Given the description of an element on the screen output the (x, y) to click on. 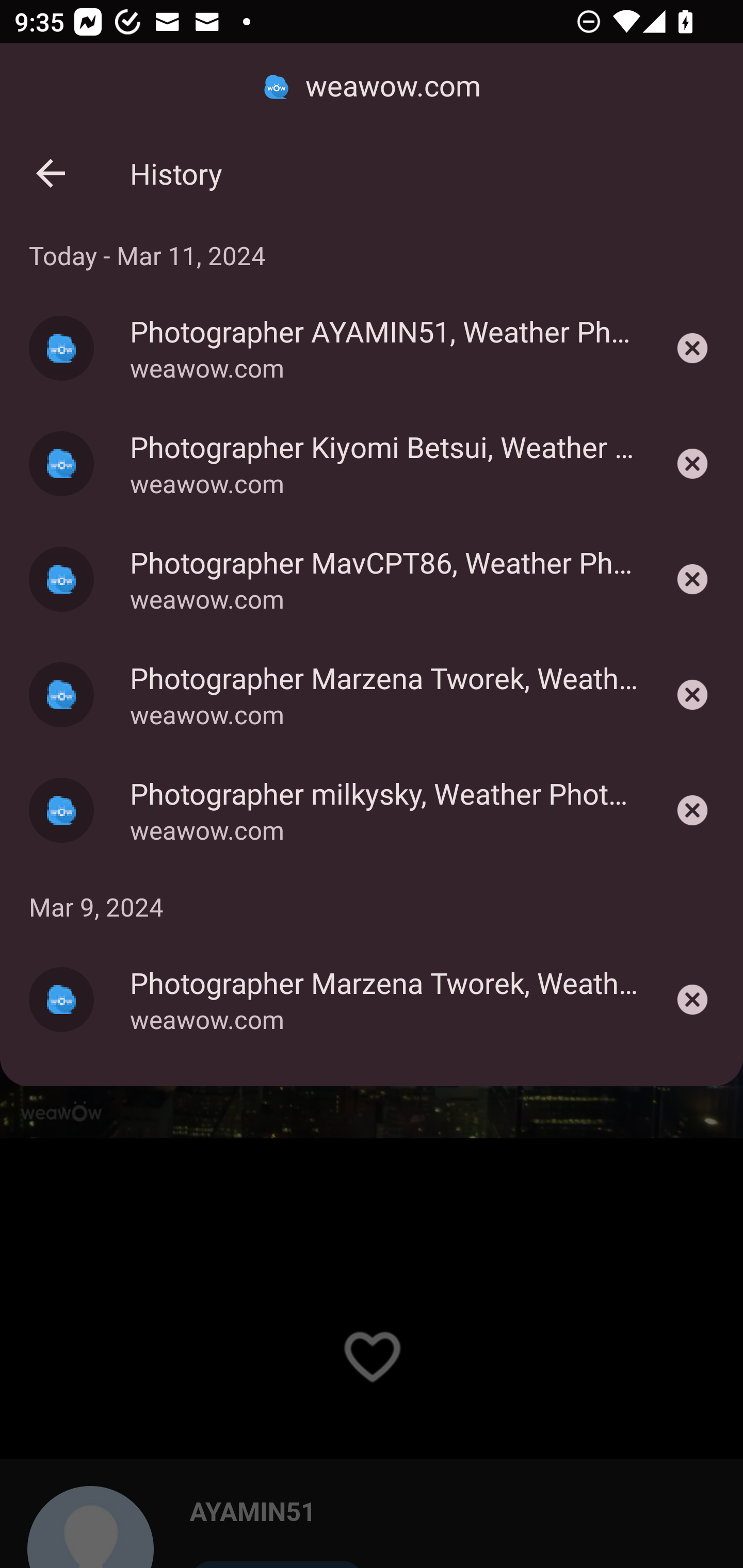
weawow.com (371, 86)
Back (50, 173)
